Given the description of an element on the screen output the (x, y) to click on. 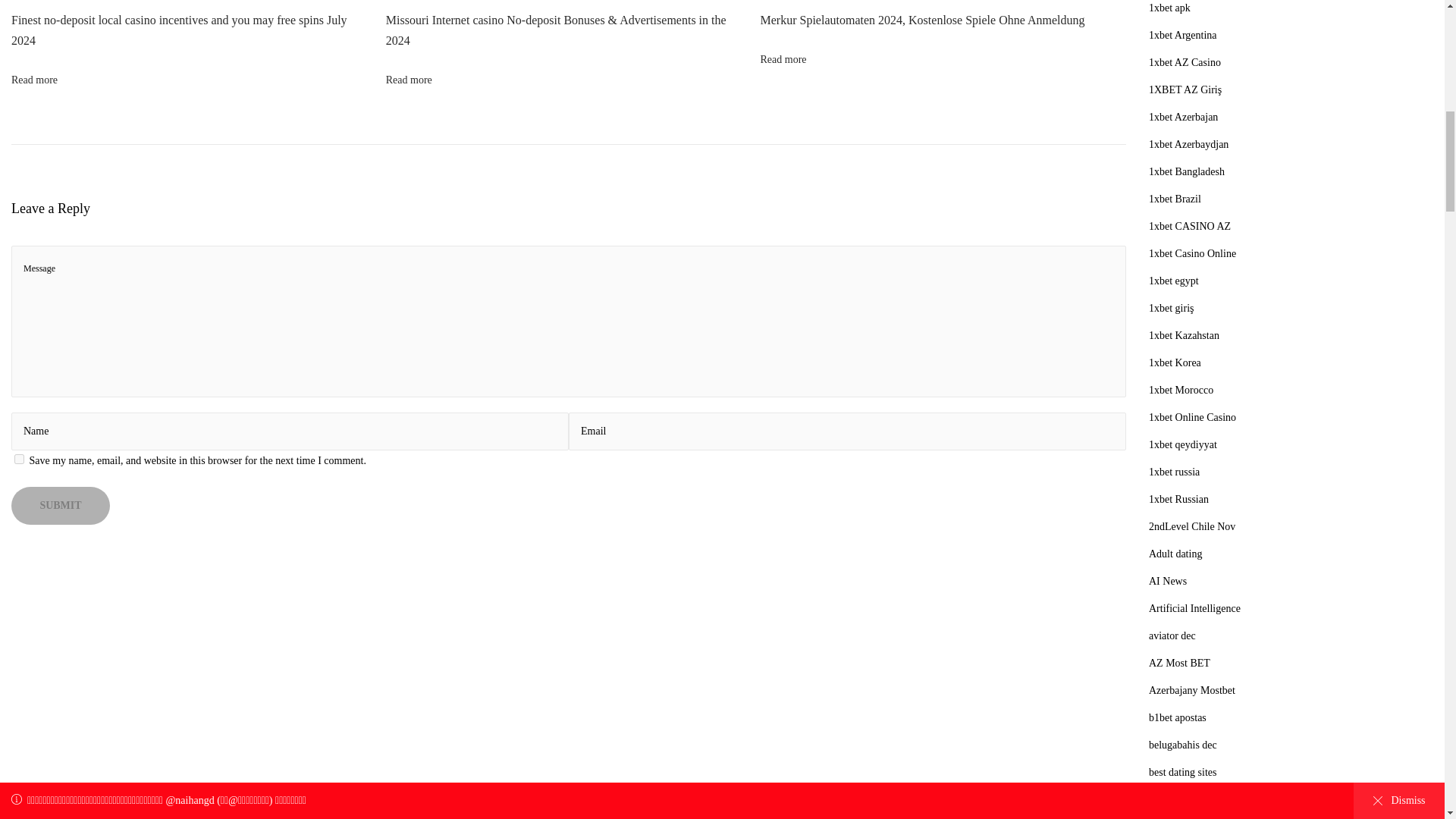
Read more (783, 59)
yes (19, 459)
Submit (60, 505)
Merkur Spielautomaten 2024, Kostenlose Spiele Ohne Anmeldung (922, 19)
Read more (408, 79)
Submit (60, 505)
Read more (34, 79)
